Given the description of an element on the screen output the (x, y) to click on. 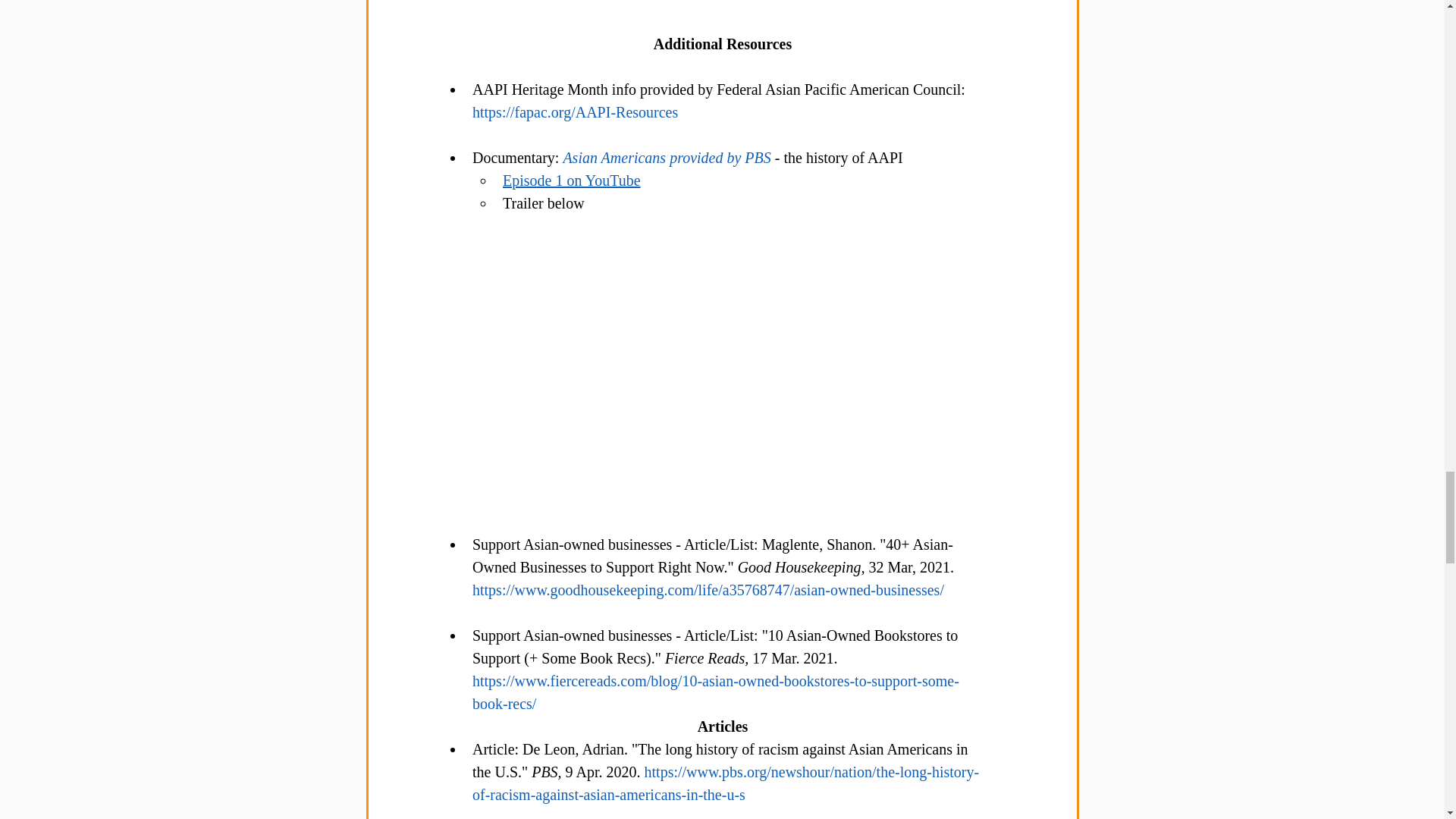
Asian Americans provided by PBS  (668, 157)
Episode 1 on YouTube (571, 180)
